Given the description of an element on the screen output the (x, y) to click on. 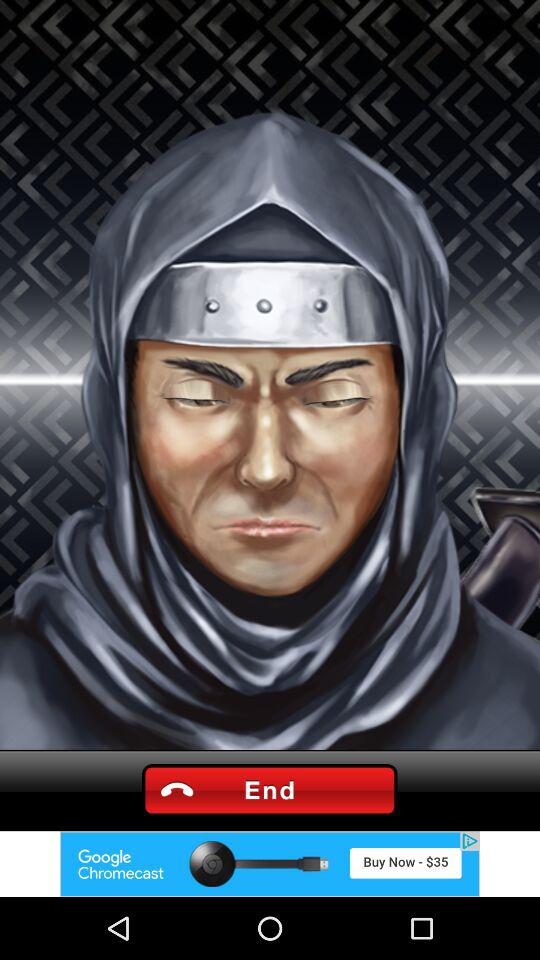
this is an advertisement for google chromecast (270, 864)
